Given the description of an element on the screen output the (x, y) to click on. 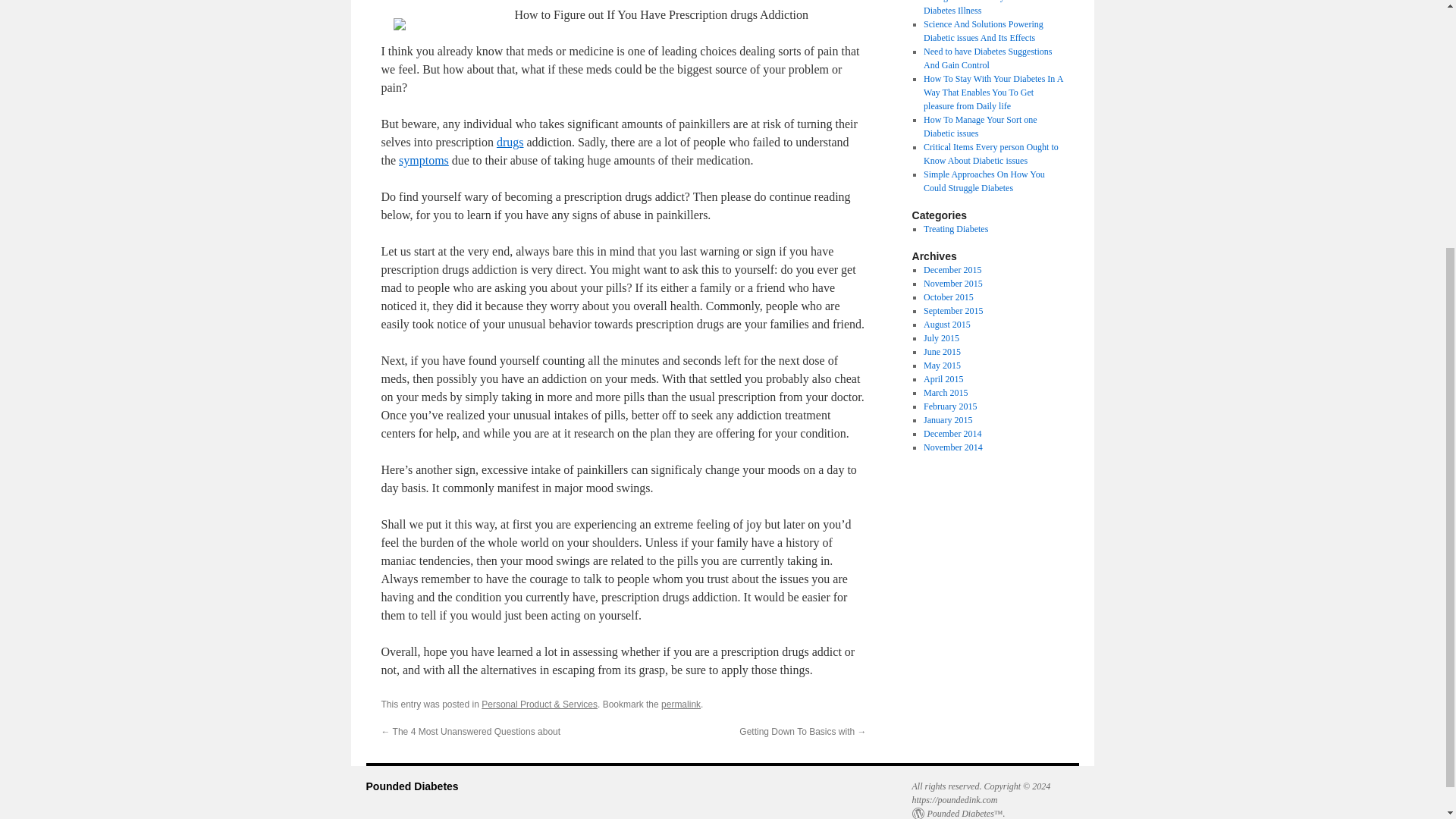
August 2015 (947, 324)
symptoms (423, 160)
September 2015 (952, 310)
Treating Diabetes (955, 228)
Need to have Diabetes Suggestions And Gain Control (987, 57)
June 2015 (941, 351)
February 2015 (949, 406)
Living A Total Lifestyle With Diabetes Illness (976, 7)
December 2015 (952, 269)
October 2015 (948, 296)
